Given the description of an element on the screen output the (x, y) to click on. 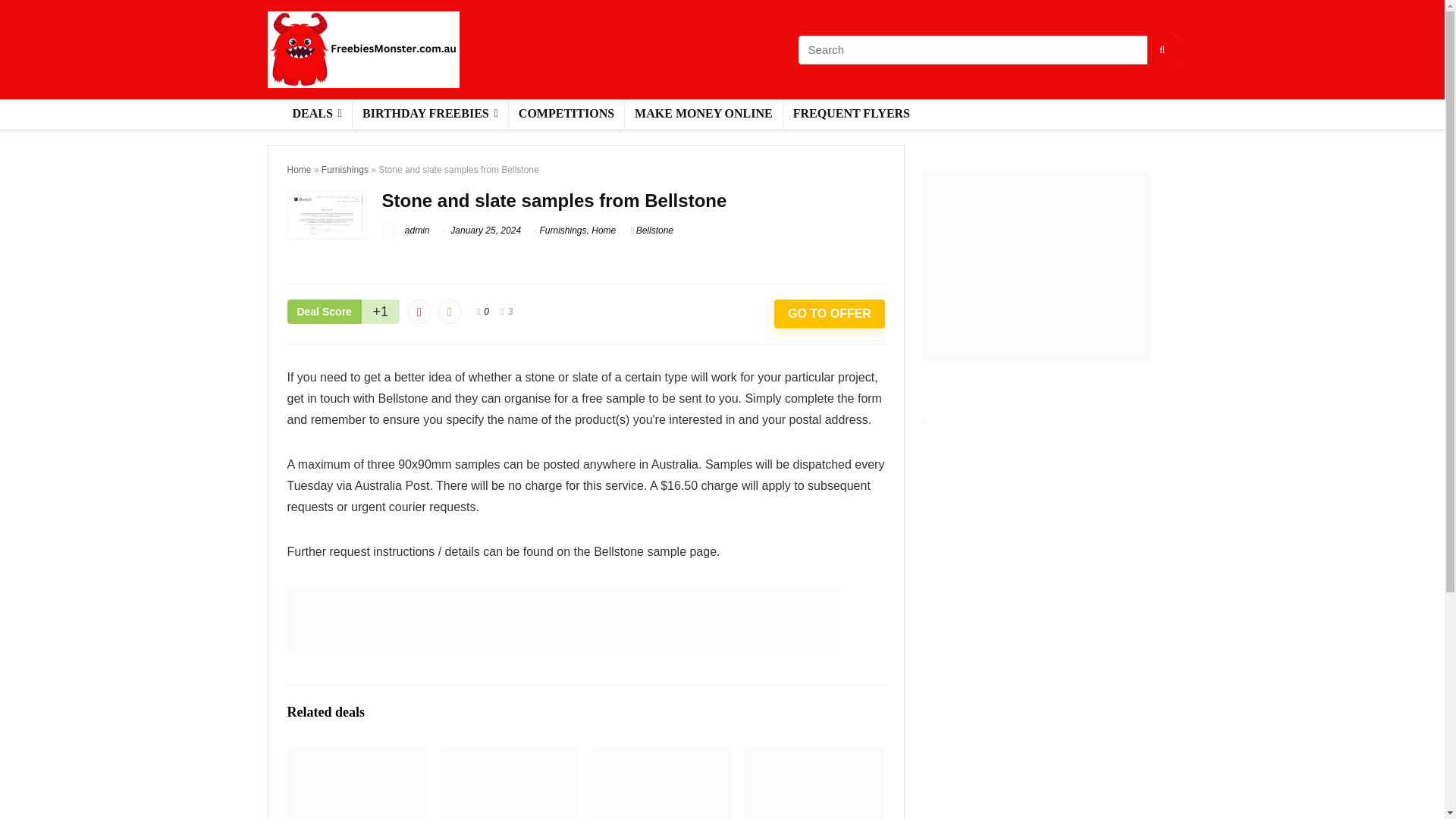
Vote up (449, 311)
MAKE MONEY ONLINE (703, 113)
admin (405, 230)
Furnishings (344, 169)
Bellstone (651, 230)
Home (603, 230)
View all posts in Furnishings (563, 230)
View all posts in Home (603, 230)
DEALS (316, 113)
Home (298, 169)
